Given the description of an element on the screen output the (x, y) to click on. 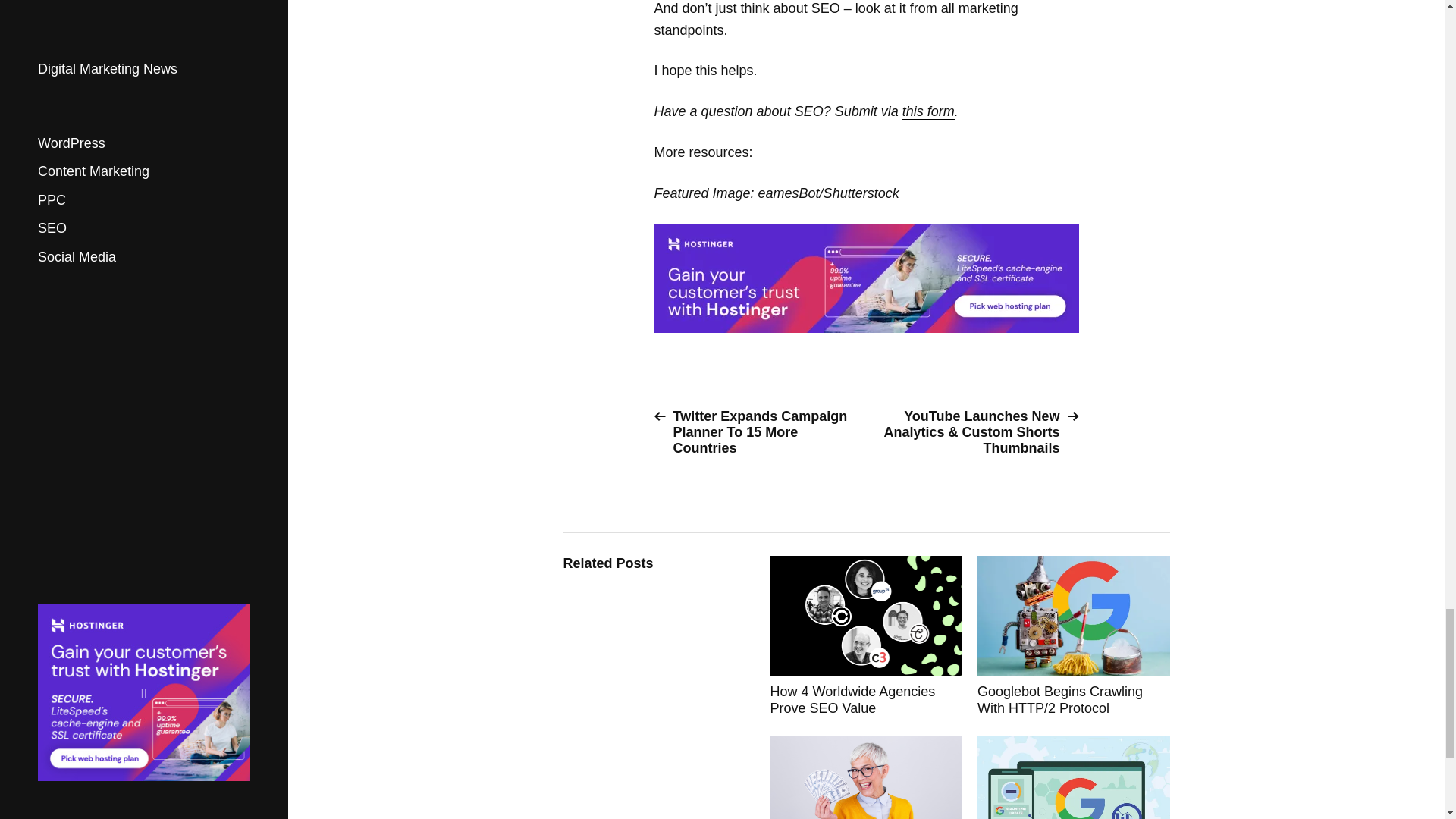
How 4 Worldwide Agencies Prove SEO Value (866, 636)
Twitter Expands Campaign Planner To 15 More Countries (753, 432)
this form (928, 111)
Buying Backlinks For SEO: Yes, This Is Still A Thing (866, 777)
